Given the description of an element on the screen output the (x, y) to click on. 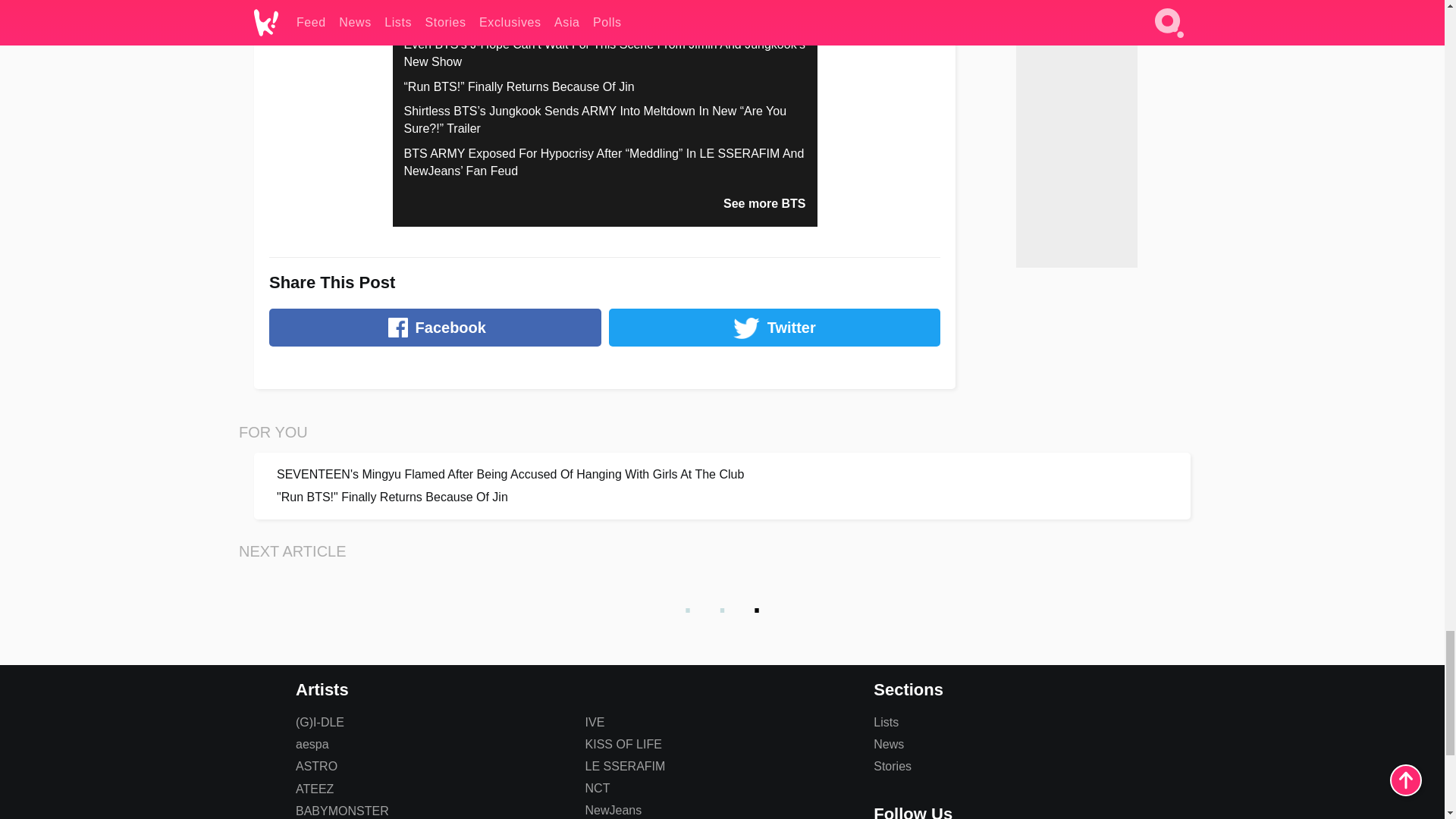
ATEEZ (314, 788)
BABYMONSTER (341, 810)
"Run BTS!" Finally Returns Because Of Jin (721, 496)
ASTRO (316, 766)
See more BTS (764, 203)
aespa (312, 744)
